Given the description of an element on the screen output the (x, y) to click on. 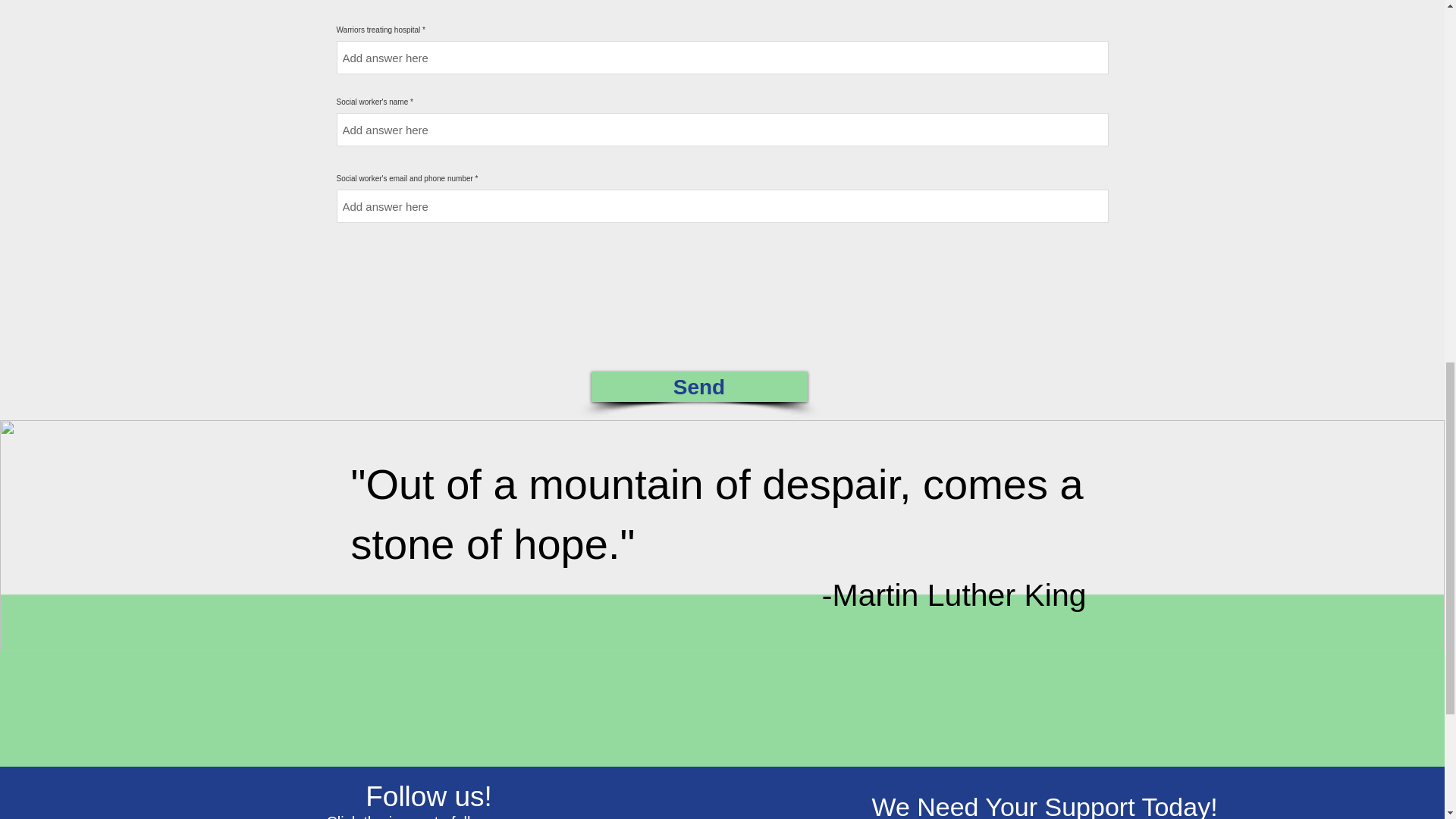
Send (699, 386)
